Given the description of an element on the screen output the (x, y) to click on. 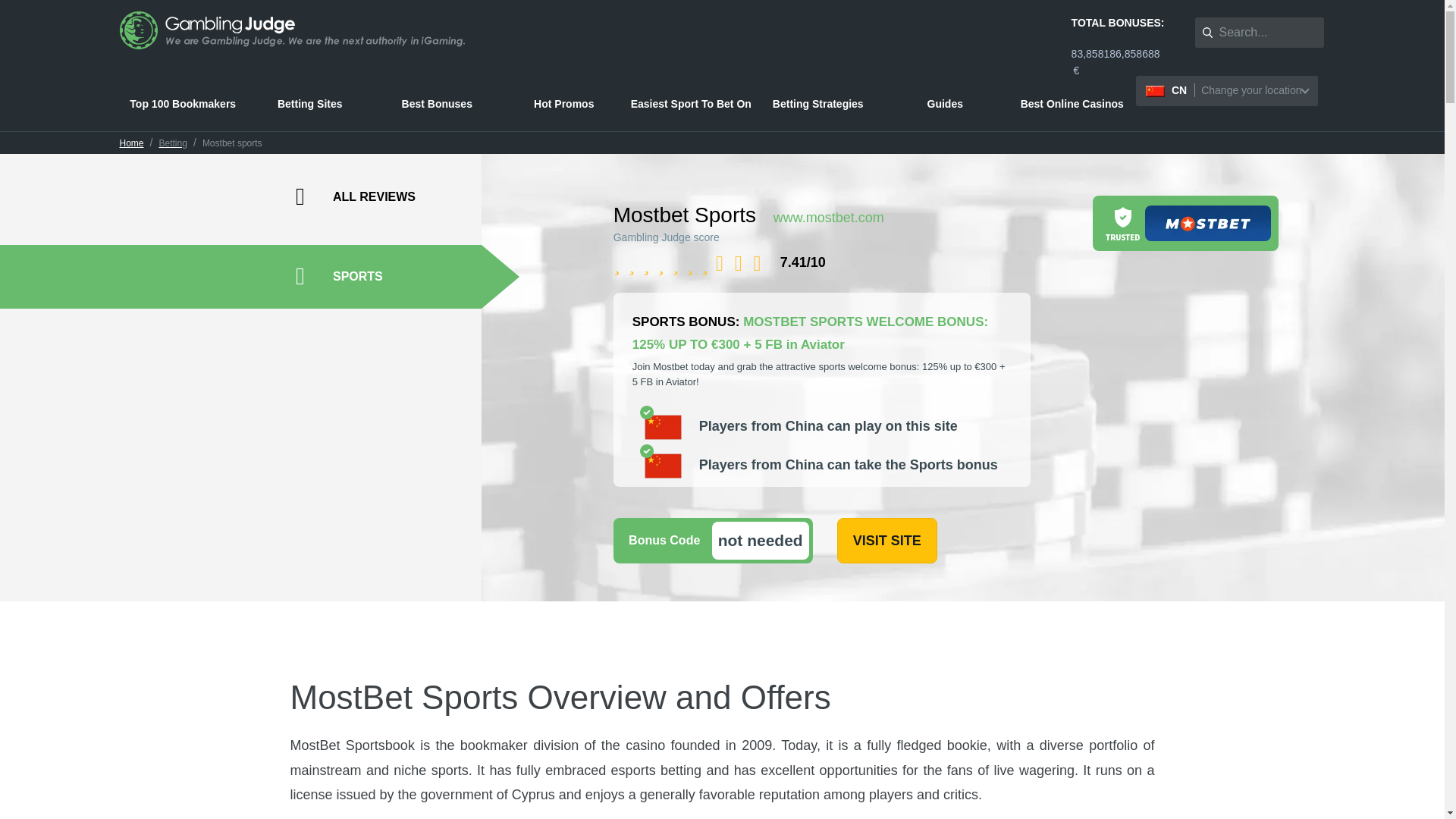
Top 100 Bookmakers (183, 104)
Betting Sites (310, 104)
Best Bonuses (436, 104)
Search Gambling Judge (1259, 32)
Betting Guides (944, 104)
Best Bonuses (436, 104)
Best Reviews (183, 104)
China CN (1226, 91)
